Given the description of an element on the screen output the (x, y) to click on. 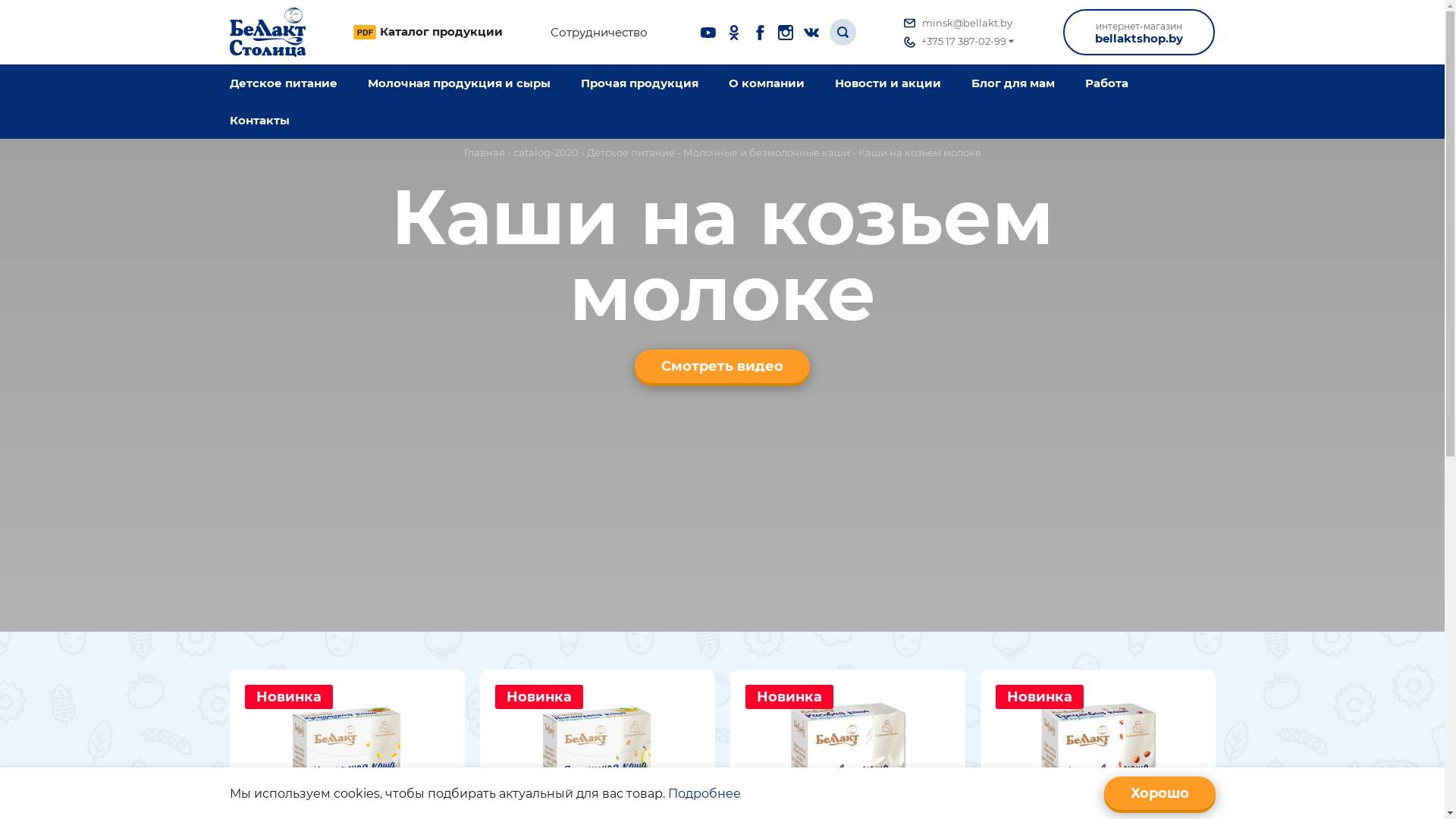
minsk@bellakt.by Element type: text (959, 22)
catalog-2020 Element type: text (544, 152)
